Given the description of an element on the screen output the (x, y) to click on. 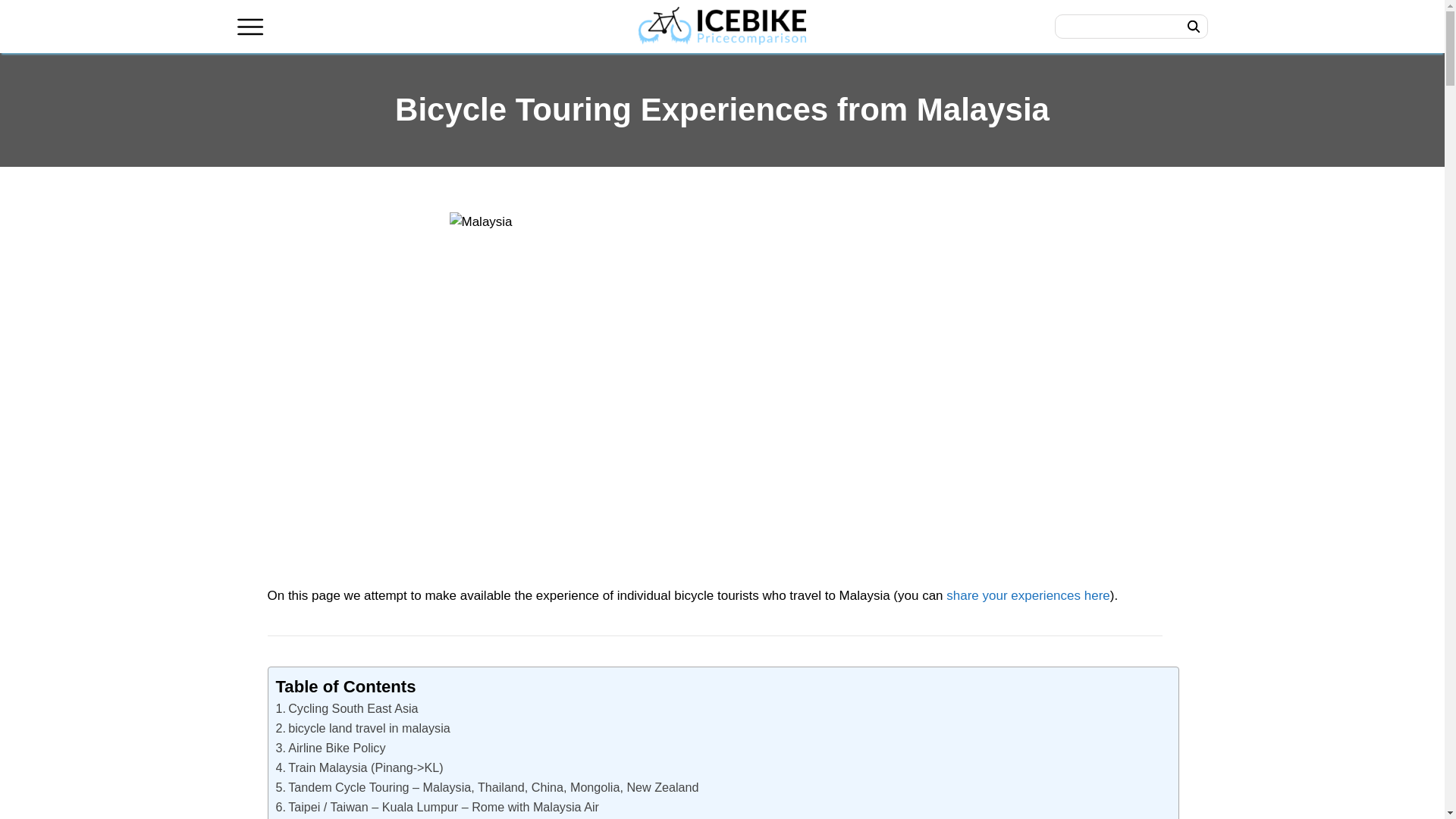
Airline Bike Policy (330, 747)
Icebike.org (722, 25)
bicycle land travel in malaysia (362, 727)
Icebike.org (722, 26)
Cycling South East Asia (347, 707)
GO (1193, 26)
